Given the description of an element on the screen output the (x, y) to click on. 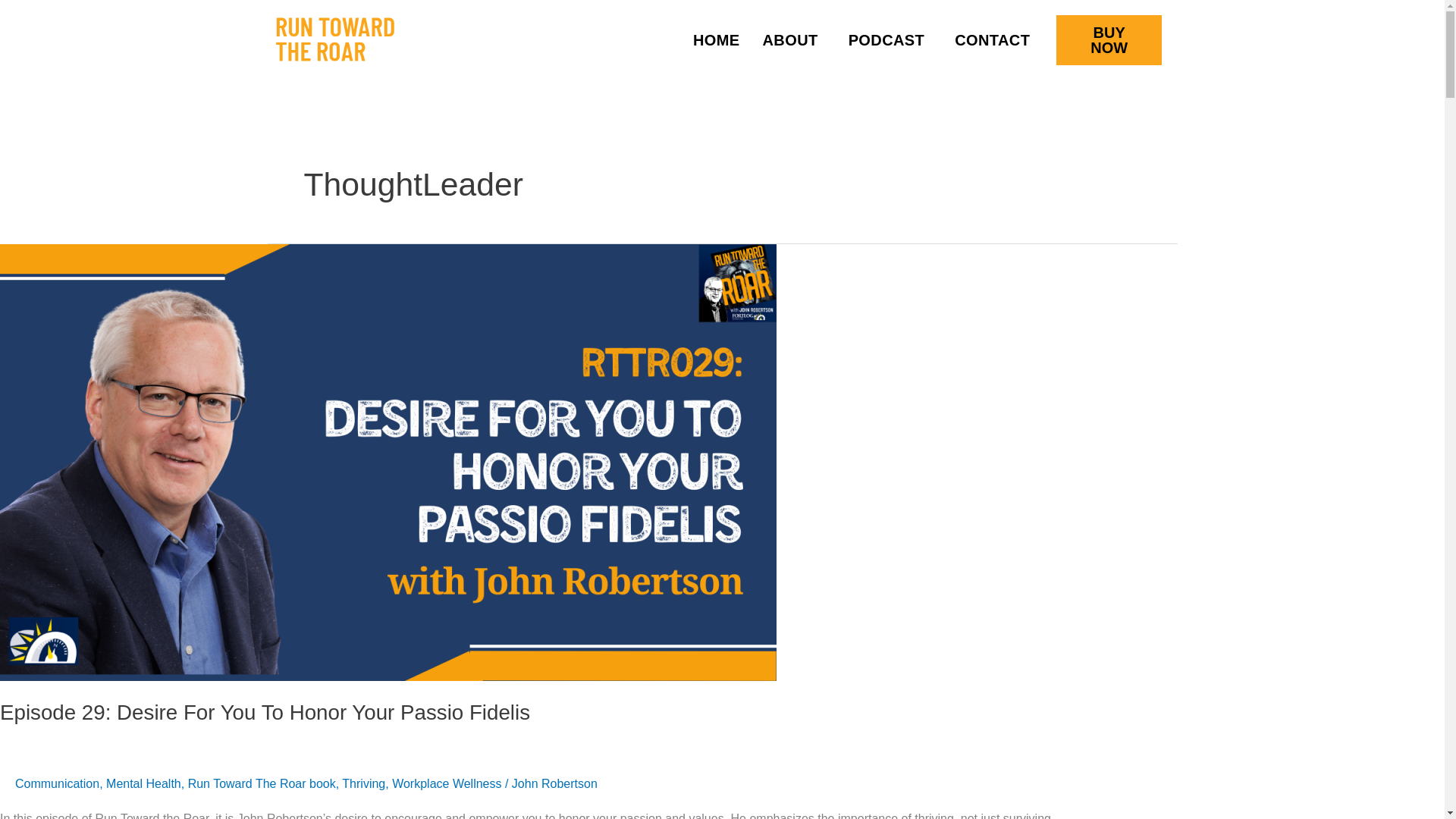
View all posts by John Robertson (554, 783)
CONTACT (992, 39)
Mental Health (143, 783)
Episode 29: Desire For You To Honor Your Passio Fidelis (264, 712)
ABOUT (794, 39)
Workplace Wellness (445, 783)
BUY NOW (1109, 40)
Thriving (363, 783)
Communication (56, 783)
Run Toward The Roar book (261, 783)
HOME (716, 39)
PODCAST (890, 39)
John Robertson (554, 783)
